Given the description of an element on the screen output the (x, y) to click on. 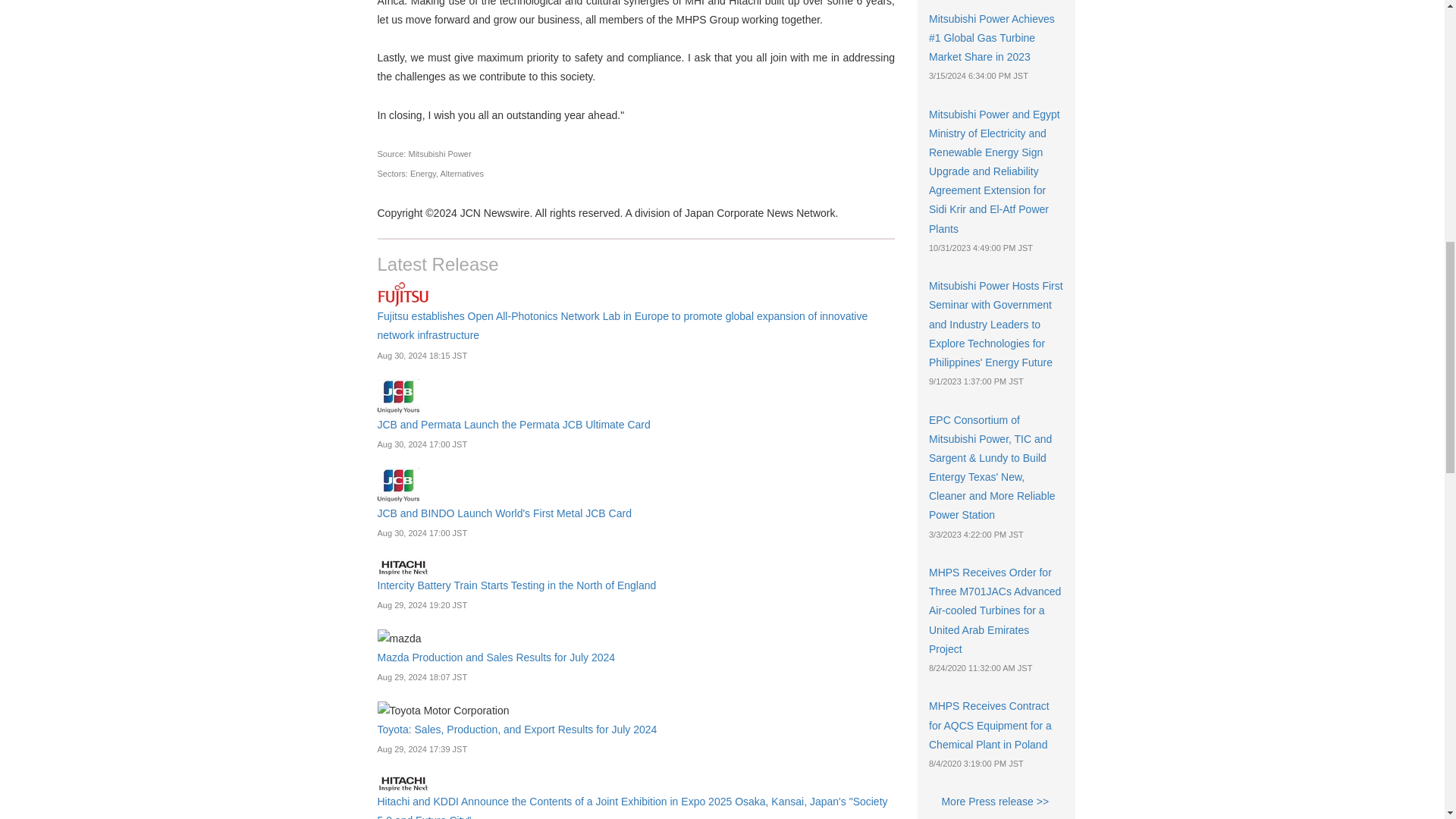
JCB (398, 485)
Mazda Production and Sales Results for July 2024 (497, 657)
Fujitsu Ltd (403, 294)
Hitachi, Ltd. (403, 782)
Toyota Motor Corporation (443, 710)
Hitachi, Ltd. (403, 566)
